Given the description of an element on the screen output the (x, y) to click on. 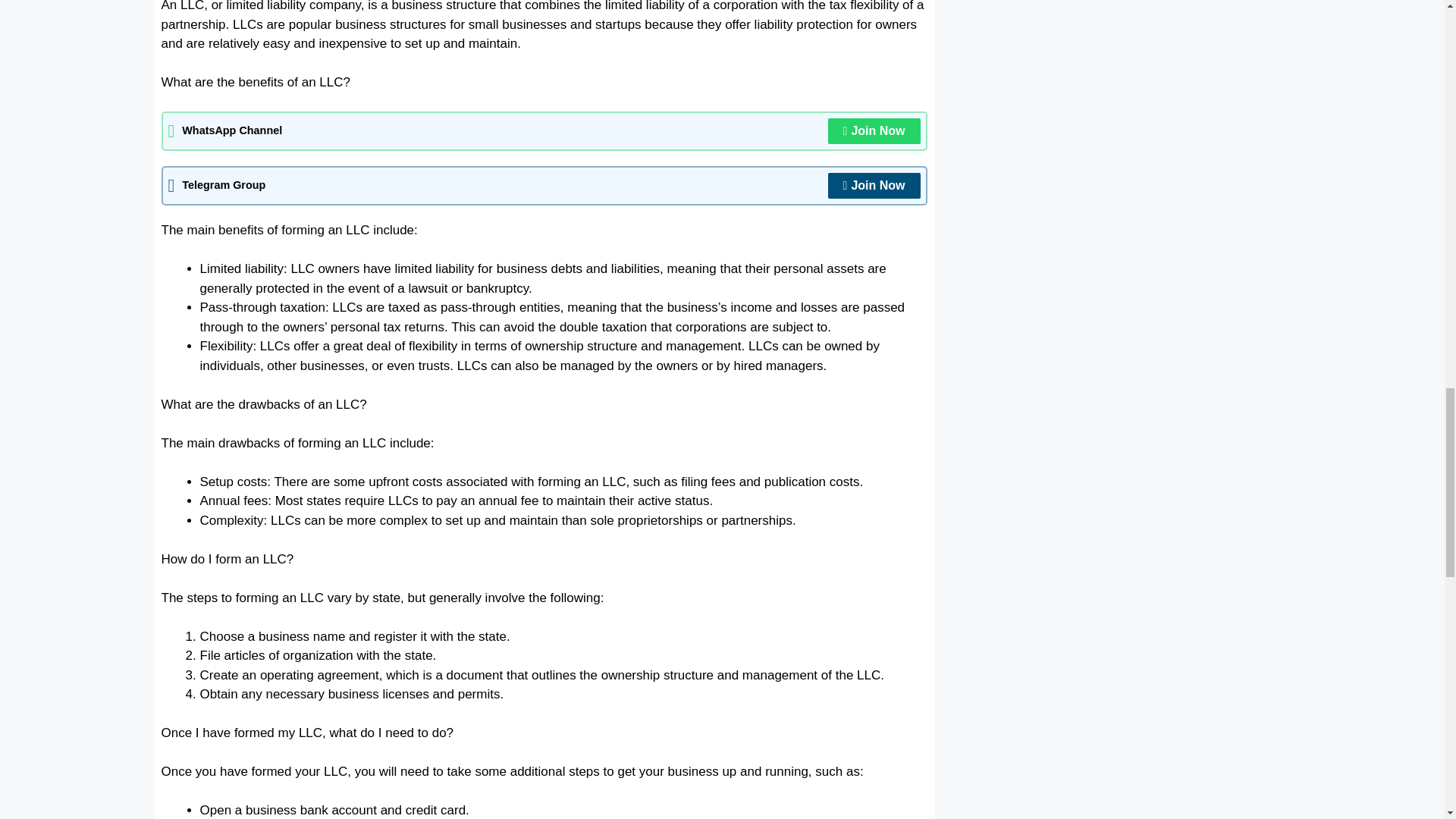
Join Now (874, 130)
Join Now (874, 185)
